Given the description of an element on the screen output the (x, y) to click on. 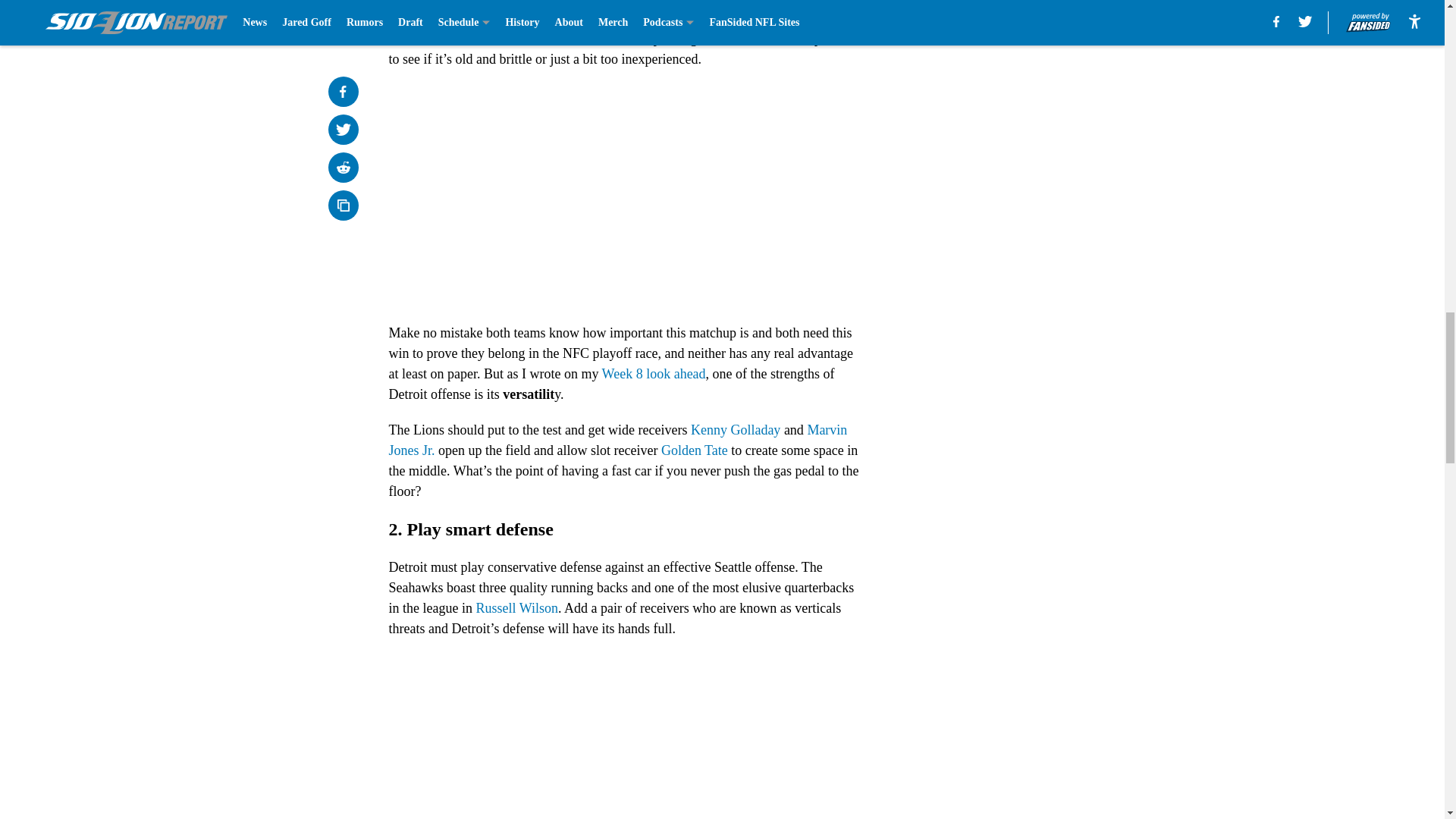
Week 8 look ahead (654, 373)
Golden Tate (694, 450)
Russell Wilson (516, 607)
Marvin Jones Jr. (617, 439)
Kenny Golladay (735, 429)
